Given the description of an element on the screen output the (x, y) to click on. 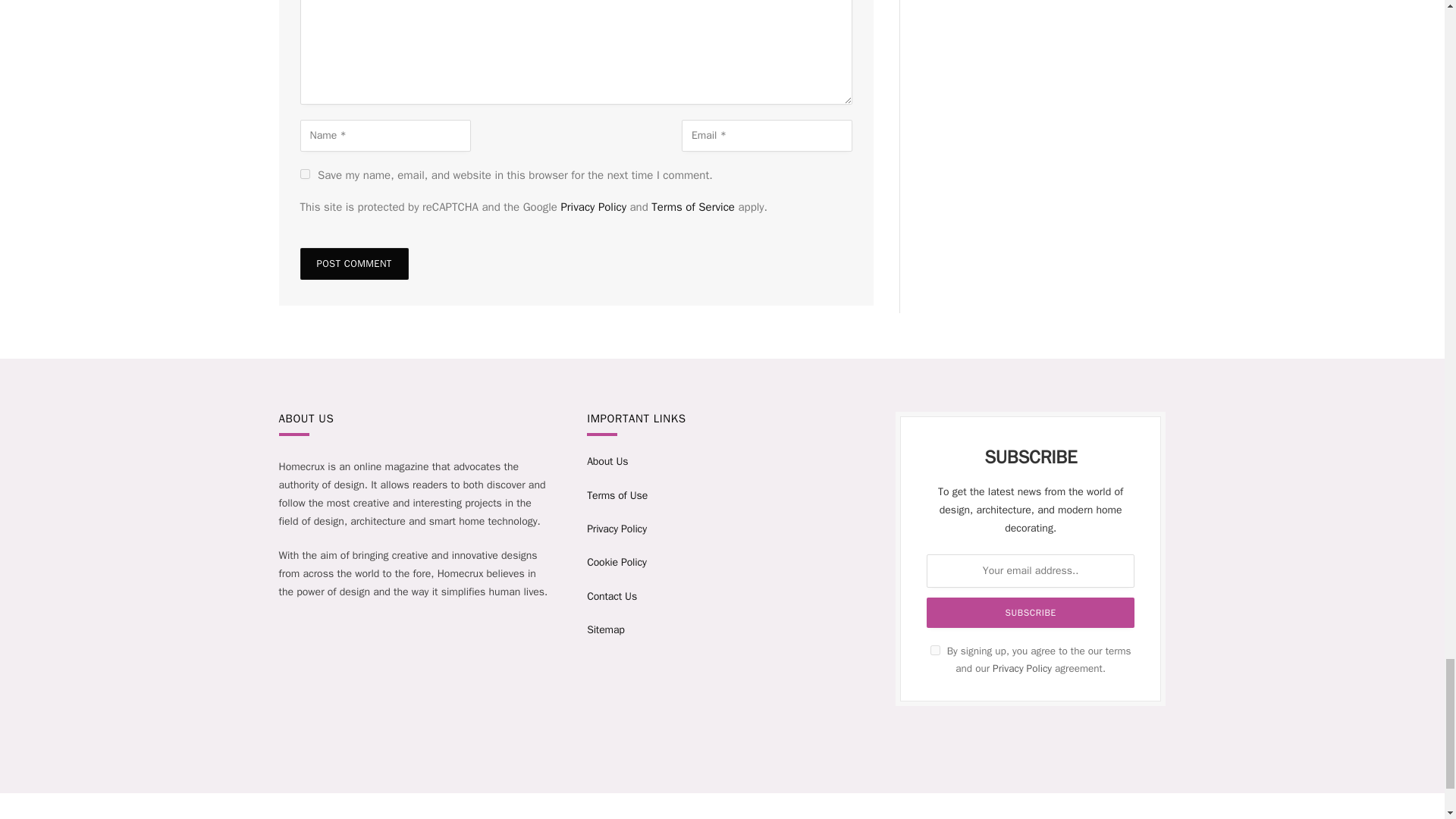
yes (304, 173)
Post Comment (354, 264)
SUBSCRIBE (1030, 612)
on (935, 650)
